Given the description of an element on the screen output the (x, y) to click on. 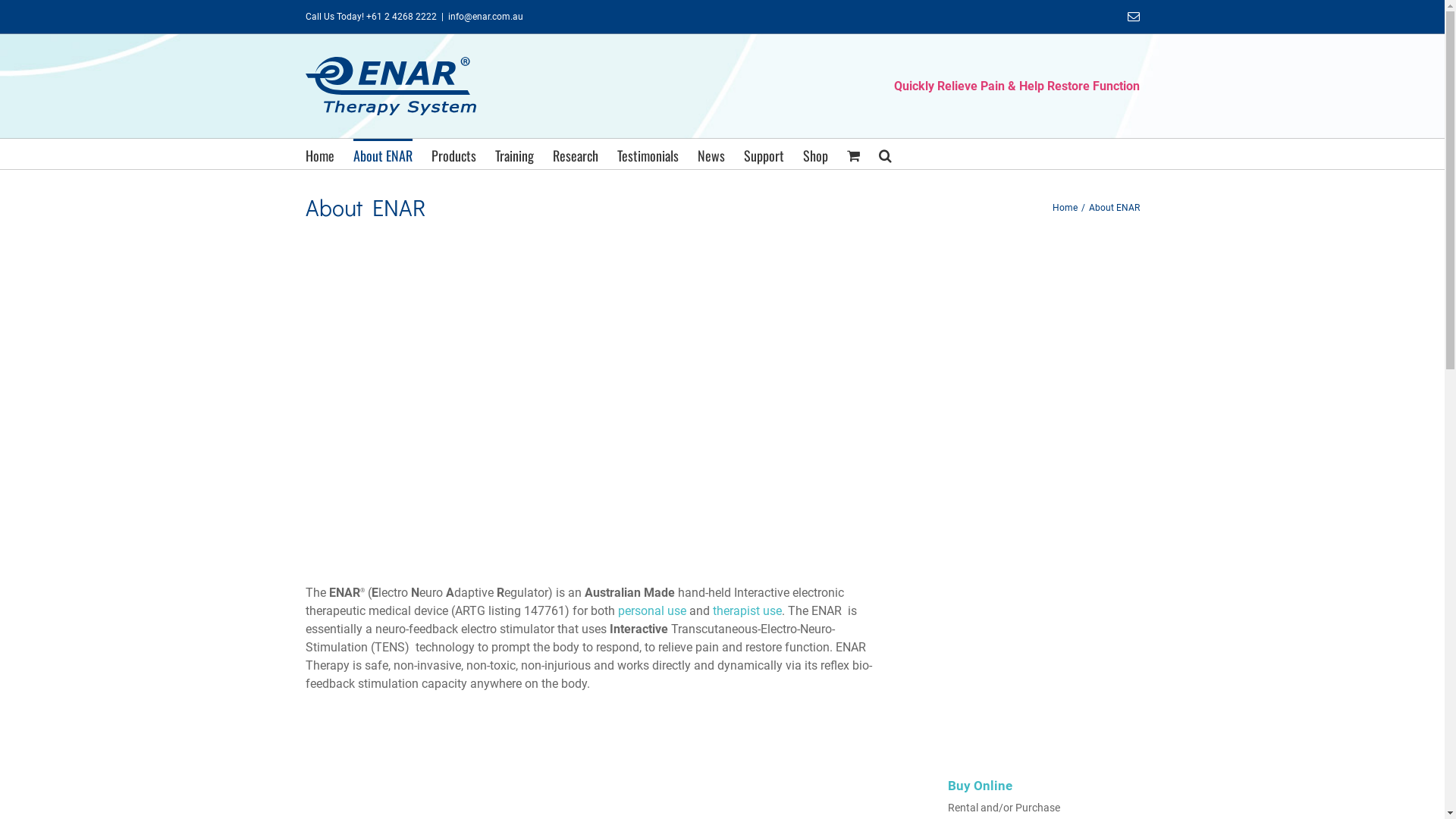
Buy Online Element type: text (1034, 404)
InfraBed Element type: text (1034, 689)
Support Element type: text (763, 153)
Shop Element type: text (814, 153)
Buy Online Element type: text (979, 785)
Products Element type: text (452, 153)
Testimonials Element type: text (647, 153)
Email Element type: text (1132, 16)
Accessories Element type: text (1034, 518)
Search Element type: hover (884, 153)
About ENAR Element type: text (382, 153)
See a Therapist Element type: text (1034, 461)
personal use Element type: text (651, 610)
Training Element type: text (513, 153)
BioBlanket Element type: text (1034, 733)
Home Element type: text (318, 153)
therapist use Element type: text (746, 610)
info@enar.com.au Element type: text (484, 16)
Home Element type: text (1064, 207)
Training Dates Element type: text (1034, 575)
Vimeo video player 1 Element type: hover (595, 420)
News Element type: text (710, 153)
Try - Rent - Buy Element type: text (1034, 348)
Research Element type: text (574, 153)
Special Offers Element type: text (1034, 632)
Free DVD + Infopack Element type: text (1042, 287)
